Given the description of an element on the screen output the (x, y) to click on. 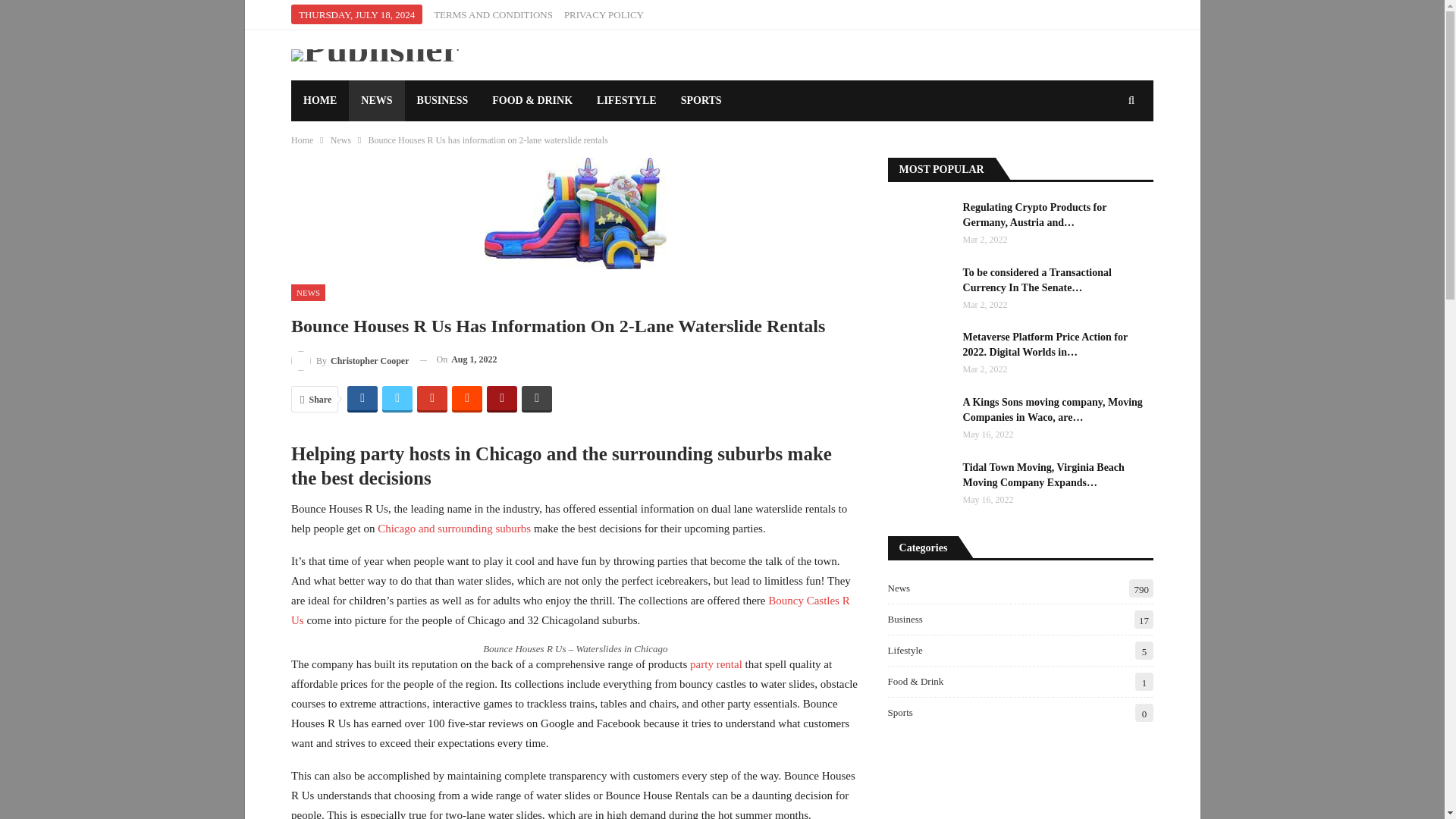
HOME (320, 100)
NEWS (307, 292)
Chicago and surrounding suburbs (454, 528)
SPORTS (700, 100)
BUSINESS (442, 100)
LIFESTYLE (626, 100)
NEWS (376, 100)
News (340, 139)
party rental (716, 664)
Home (302, 139)
Bouncy Castles R Us (570, 610)
PRIVACY POLICY (603, 14)
